Given the description of an element on the screen output the (x, y) to click on. 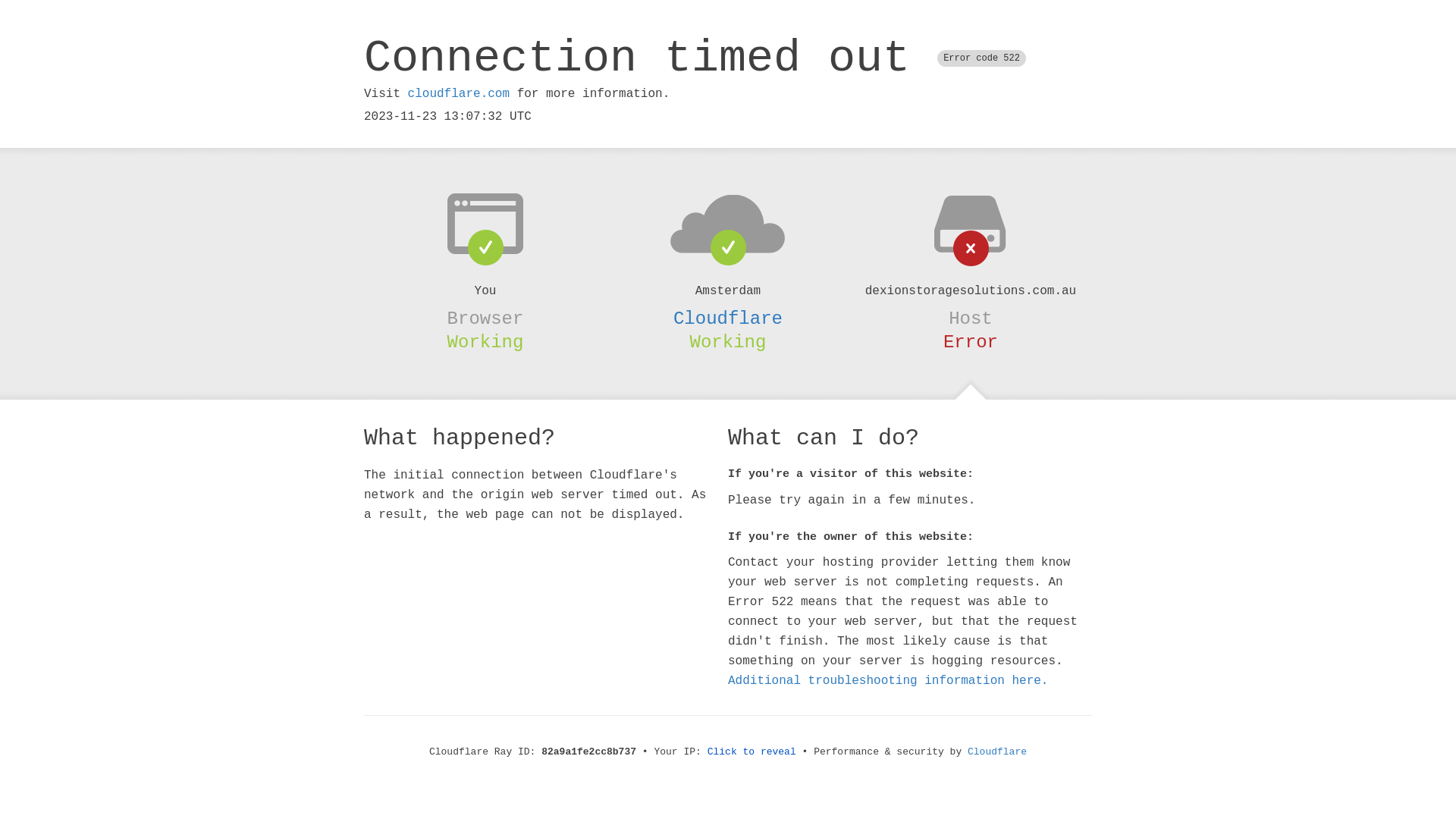
Additional troubleshooting information here. Element type: text (888, 680)
Cloudflare Element type: text (996, 751)
Click to reveal Element type: text (751, 751)
cloudflare.com Element type: text (458, 93)
Cloudflare Element type: text (727, 318)
